Given the description of an element on the screen output the (x, y) to click on. 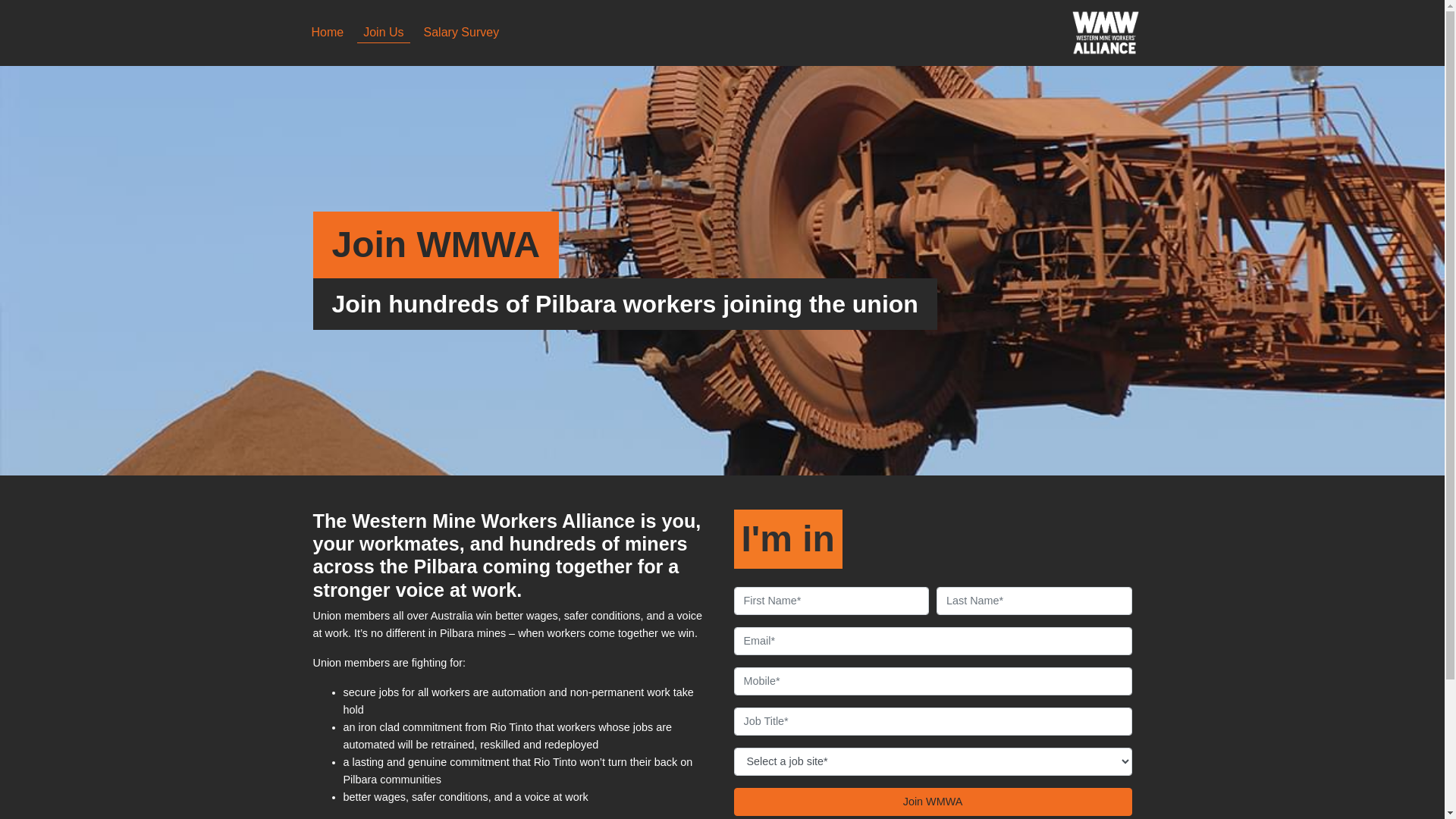
Join WMWA Element type: text (933, 801)
Home Element type: text (326, 32)
Join Us Element type: text (383, 32)
Salary Survey Element type: text (461, 32)
